Given the description of an element on the screen output the (x, y) to click on. 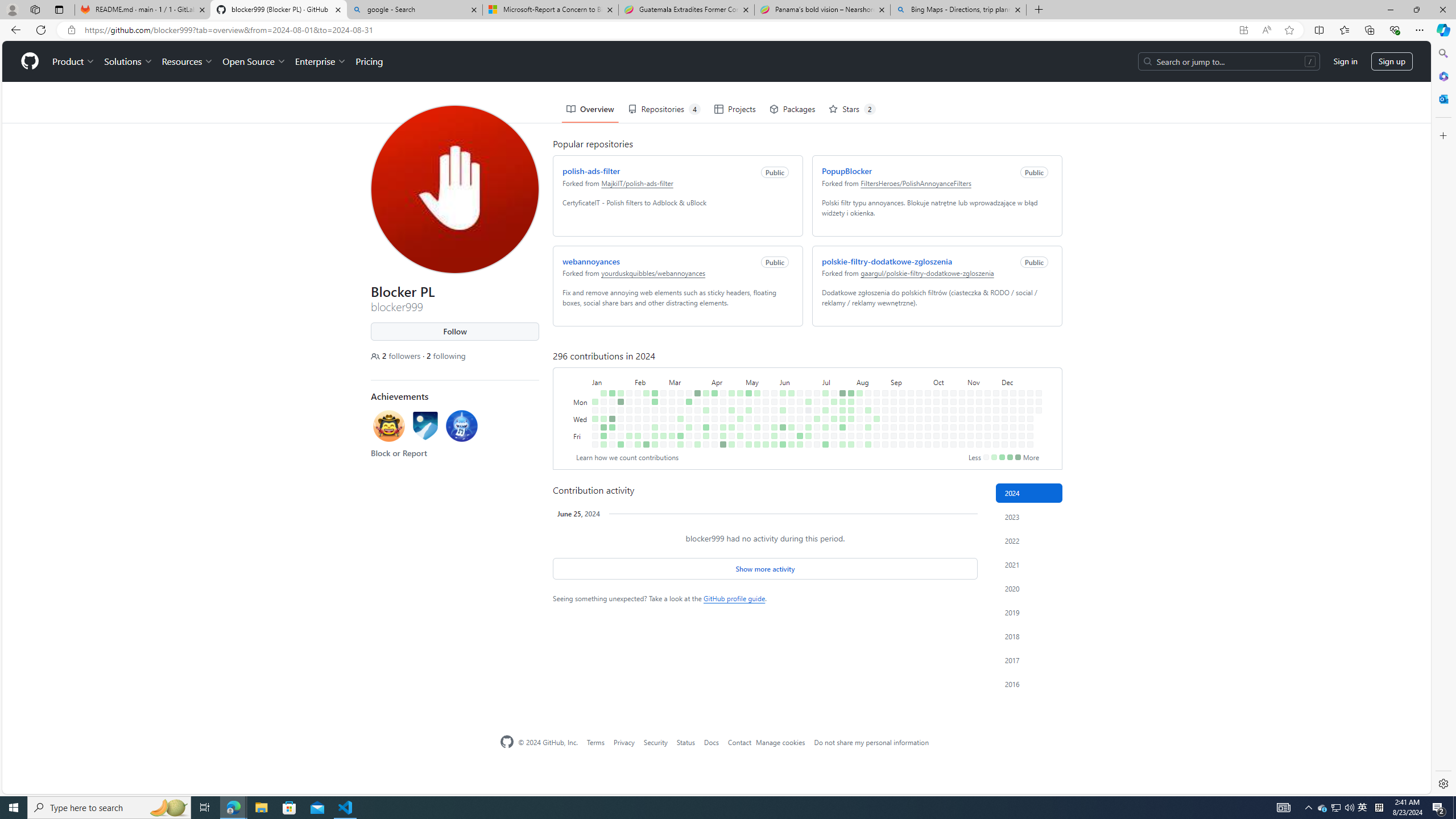
3 contributions on August 13th. (866, 369)
No contributions on December 18th. (1019, 377)
No contributions on August 28th. (882, 377)
1 contribution on February 2nd. (627, 394)
No contributions on September 18th. (908, 377)
Achievement: Pull Shark (459, 384)
No contributions on December 29th. (1036, 351)
1 contribution on July 31st. (848, 377)
6 contributions on January 12th. (601, 394)
No contributions on April 30th. (738, 369)
No contributions on June 17th. (797, 360)
Security (655, 741)
No contributions on December 27th. (1029, 435)
No contributions on October 26th. (953, 444)
2 contributions on June 13th. (789, 386)
